Given the description of an element on the screen output the (x, y) to click on. 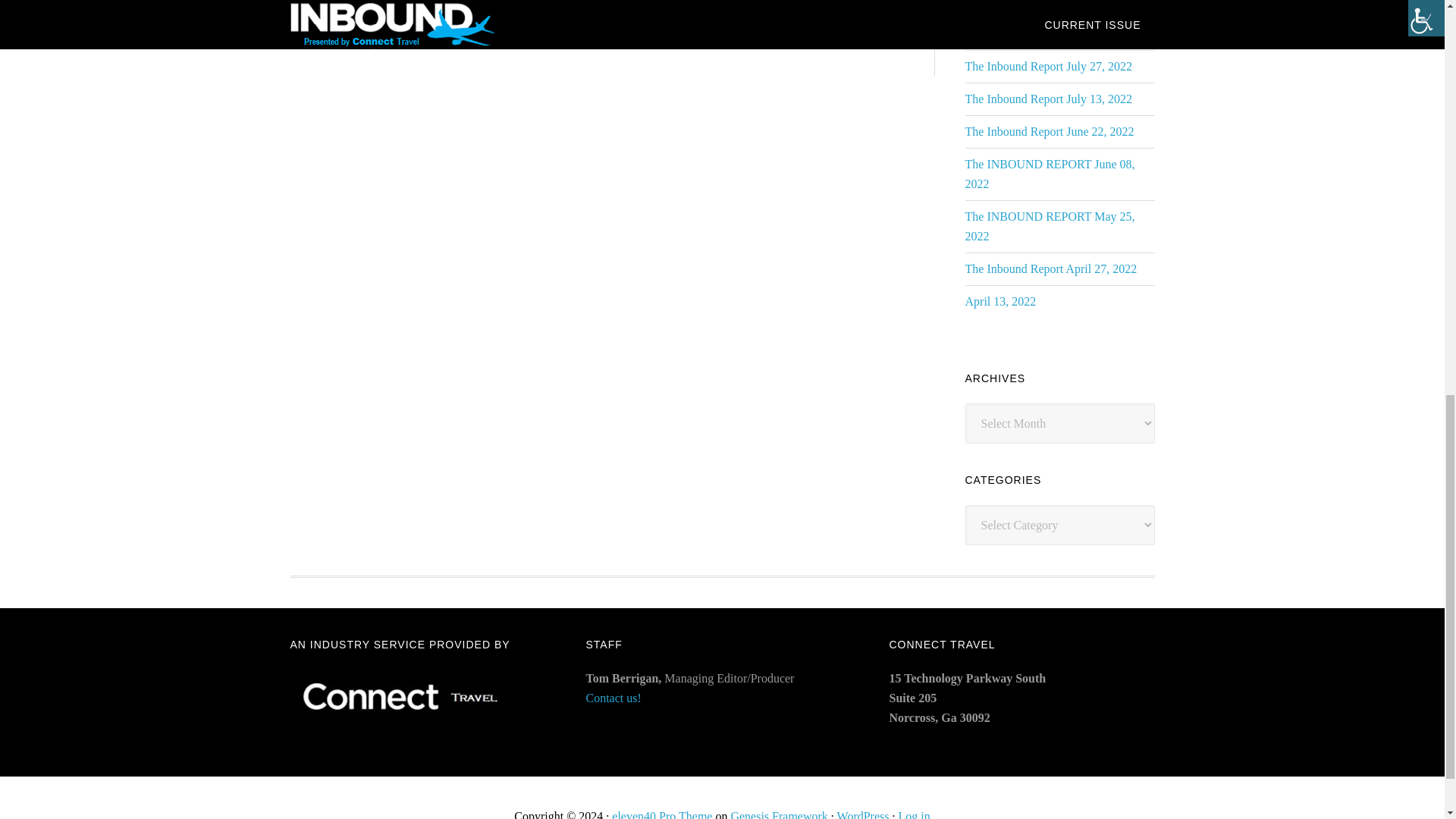
The Inbound Report July 13, 2022 (1047, 98)
The Inbound Report August 24, 2022 (1054, 3)
The INBOUND REPORT May 25, 2022 (1048, 225)
The INBOUND REPORT June 08, 2022 (1048, 174)
The Inbound Report July 27, 2022 (1047, 65)
The Inbound Report April 27, 2022 (1050, 268)
The Inbound Report June 22, 2022 (1048, 131)
The Inbound Report August 10, 2022 (1054, 33)
